Given the description of an element on the screen output the (x, y) to click on. 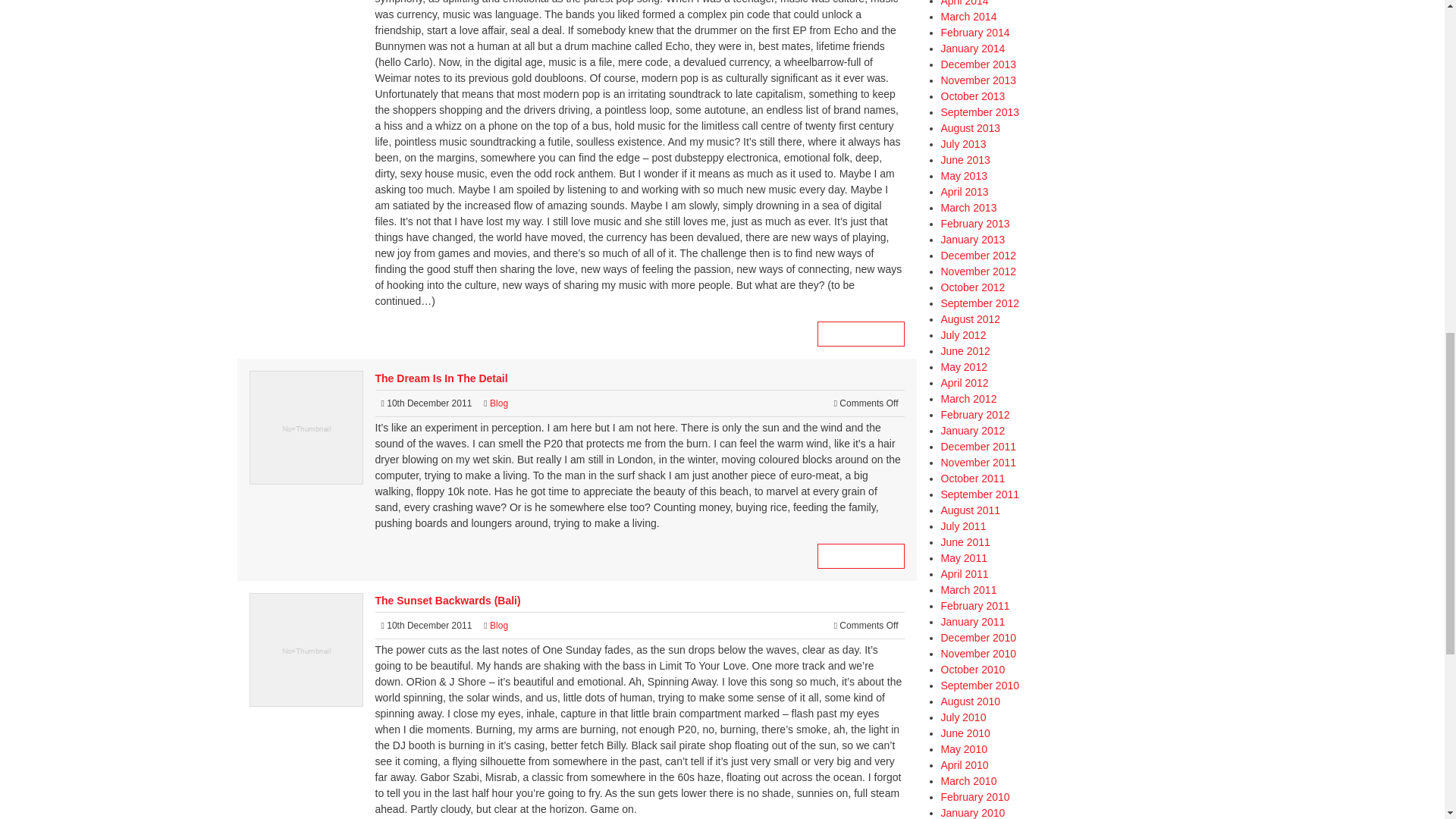
The Dream Is In The Detail (860, 555)
The Dream Is In The Detail (440, 378)
Read More (860, 555)
Blog (498, 624)
Read More (860, 333)
The Dream Is In The Detail (440, 378)
What I Think About When I Think About Music (860, 333)
Blog (498, 403)
